Given the description of an element on the screen output the (x, y) to click on. 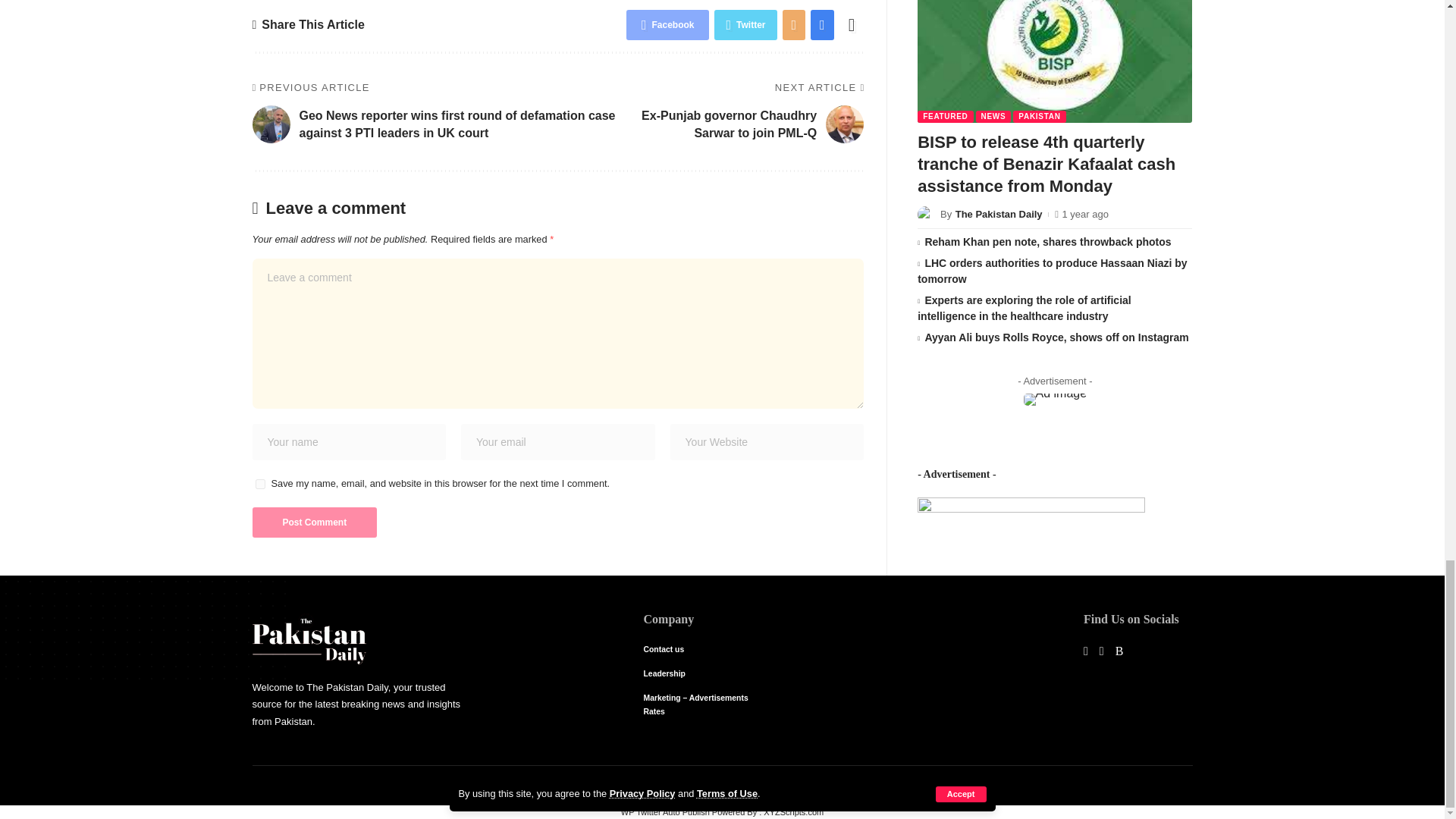
Post Comment (314, 521)
yes (259, 483)
WP Twitter Auto Publish (665, 811)
